Given the description of an element on the screen output the (x, y) to click on. 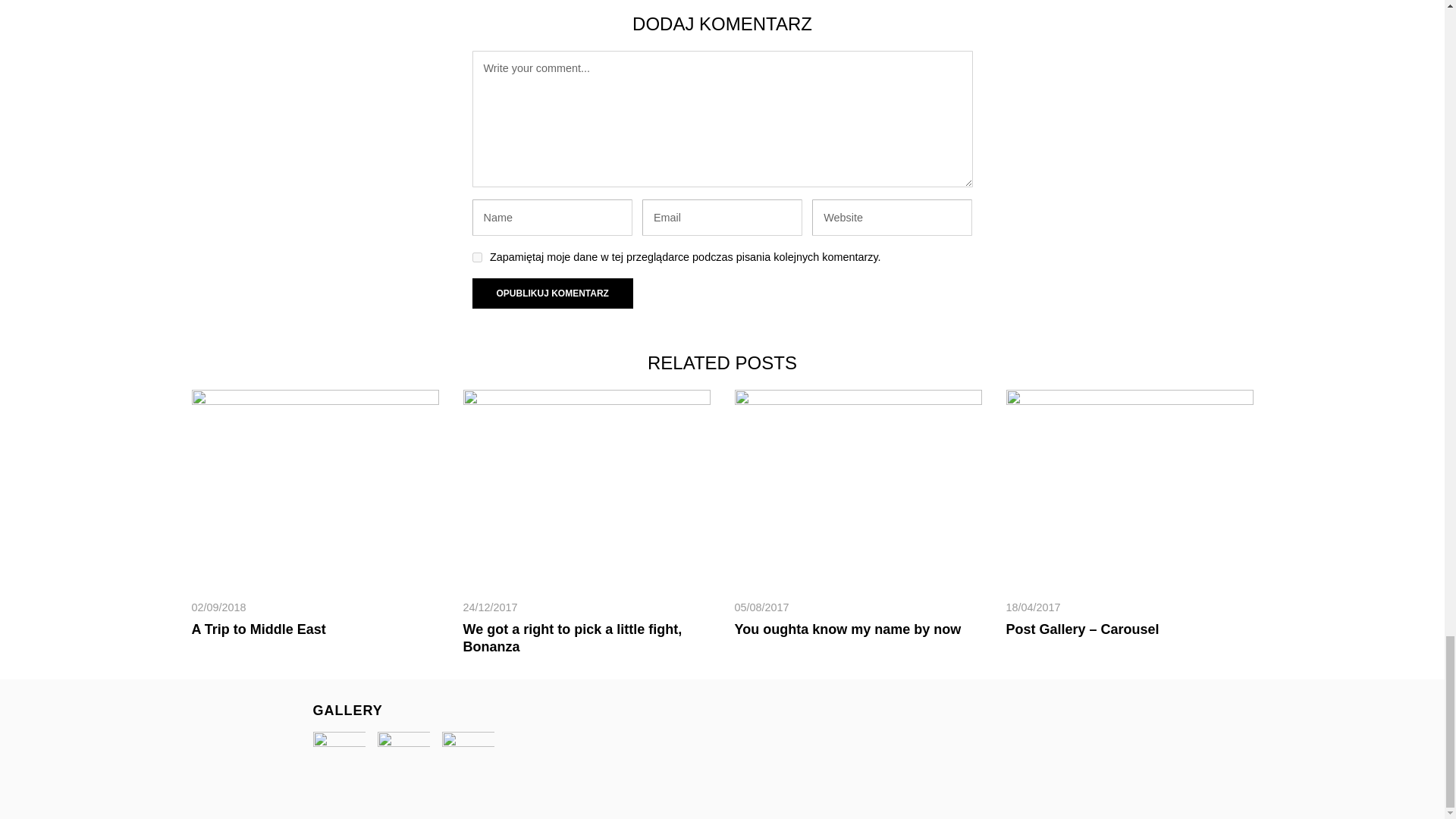
02 wrz, 2018 00:00:00 (218, 607)
Opublikuj komentarz (551, 293)
18 kwi, 2017 00:00:00 (1032, 607)
24 gru, 2017 00:00:00 (489, 607)
05 sie, 2017 00:00:00 (761, 607)
yes (476, 257)
